Given the description of an element on the screen output the (x, y) to click on. 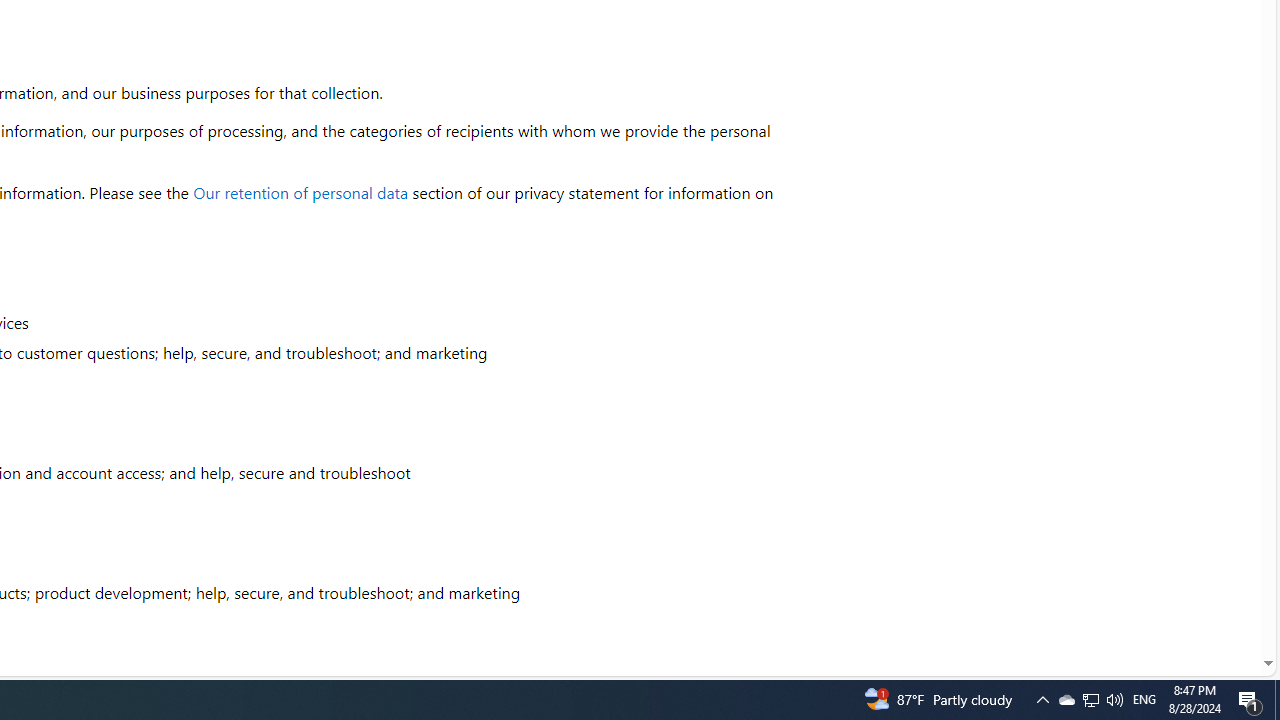
Our retention of personal data (301, 192)
